Given the description of an element on the screen output the (x, y) to click on. 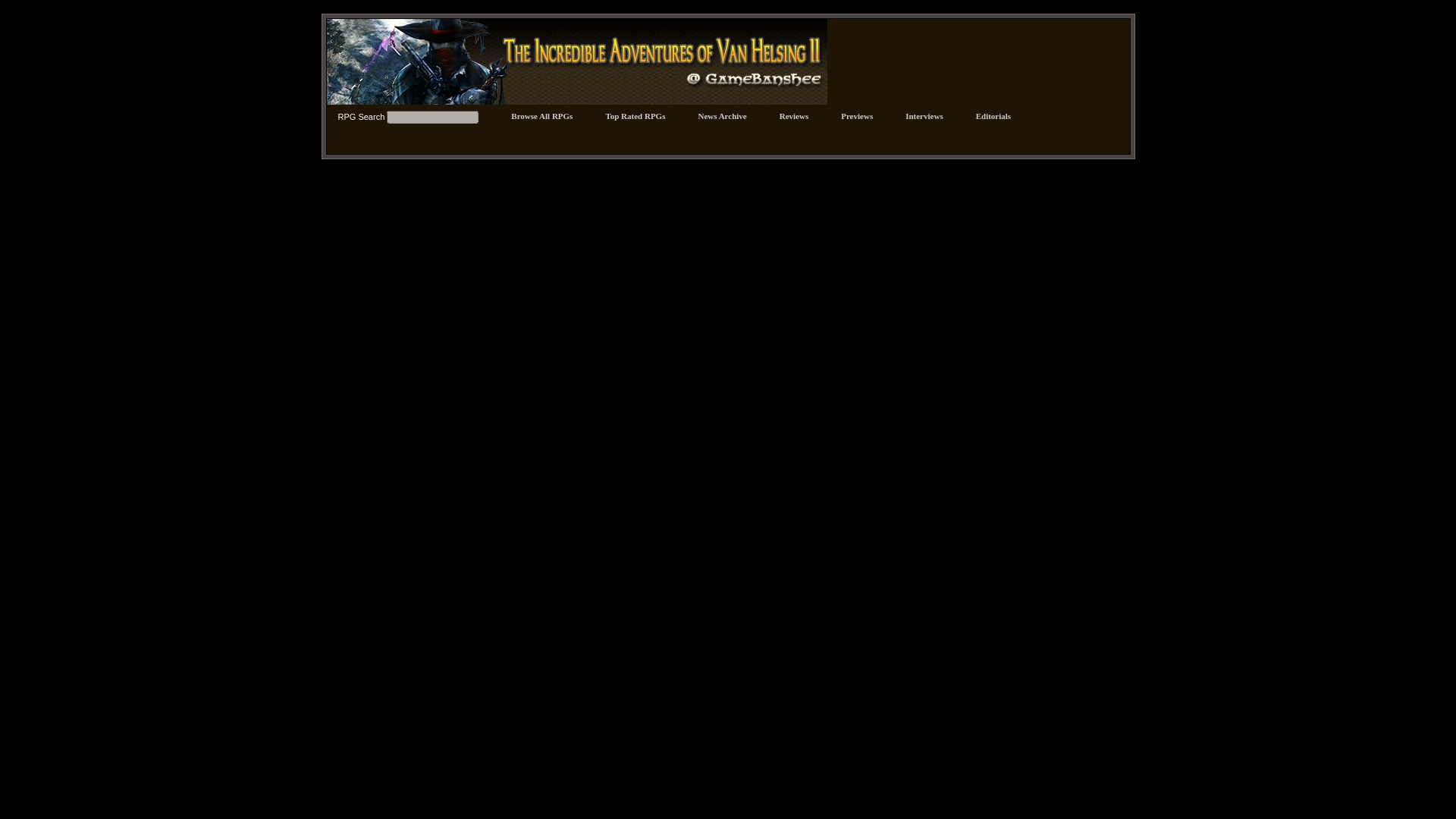
Top Rated RPGs (635, 115)
News Archive (721, 115)
Previews (856, 115)
Editorials (992, 115)
Interviews (924, 115)
Reviews (793, 115)
Browse All RPGs (541, 115)
